Given the description of an element on the screen output the (x, y) to click on. 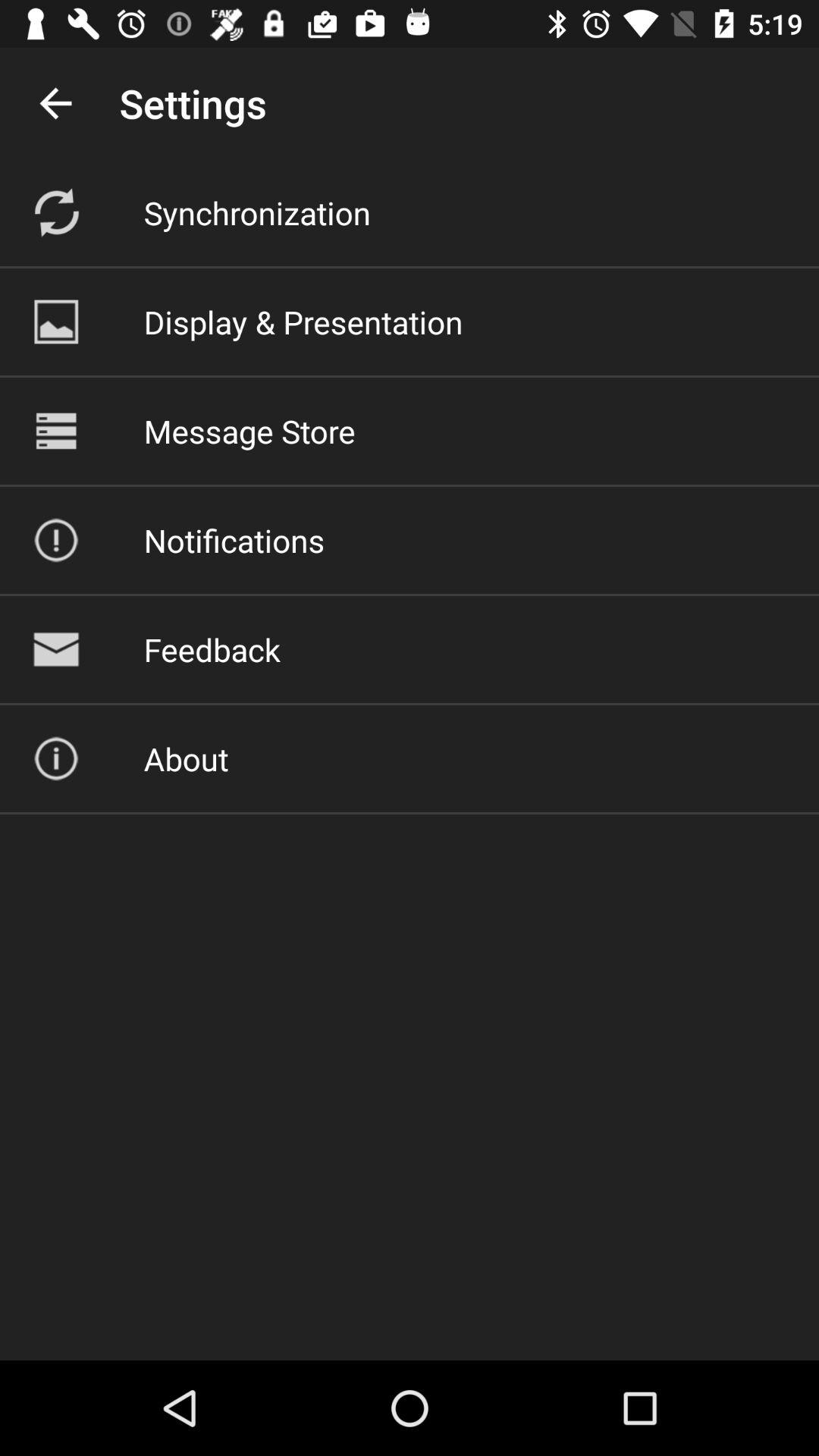
flip to display & presentation icon (302, 321)
